Given the description of an element on the screen output the (x, y) to click on. 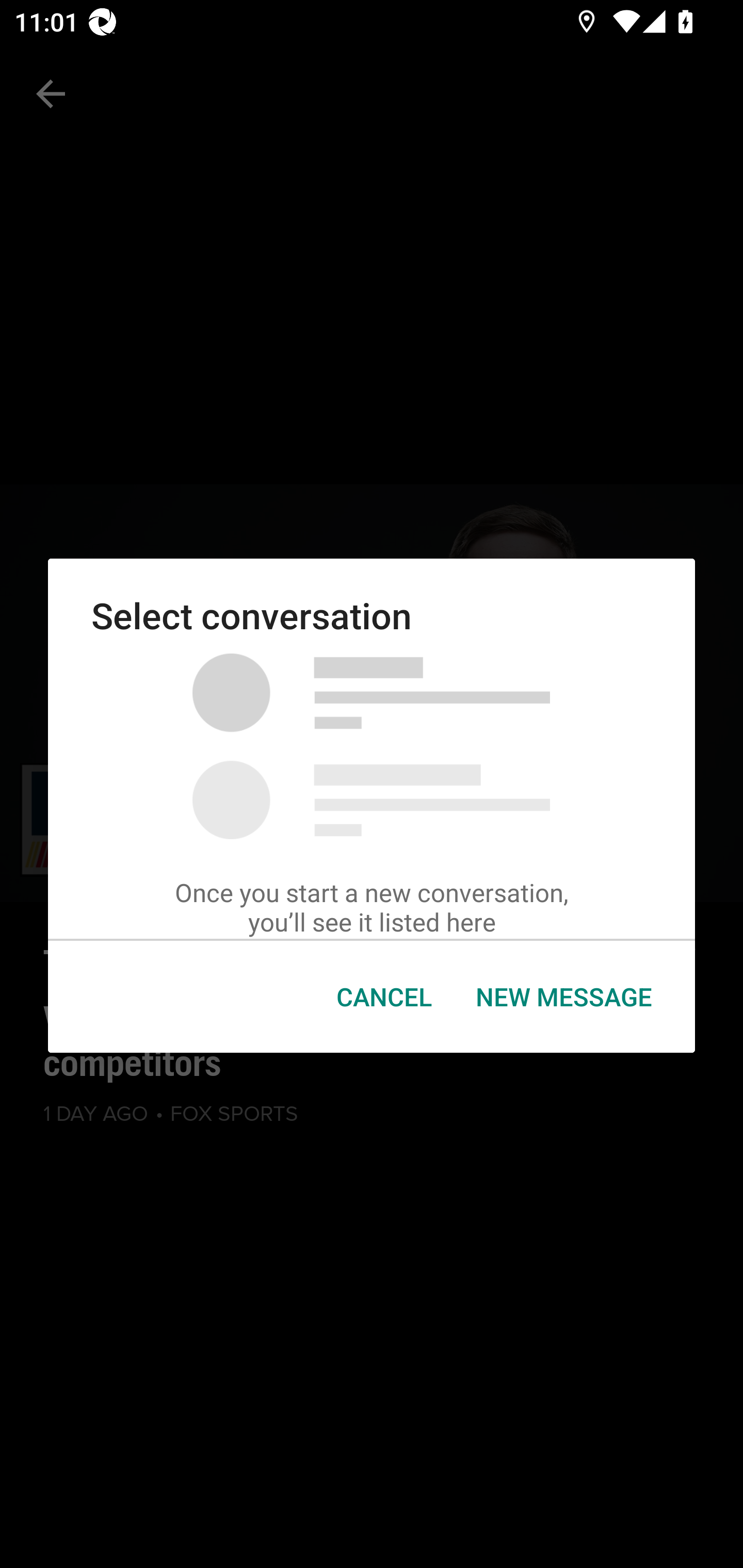
CANCEL (384, 996)
NEW MESSAGE (563, 996)
